Given the description of an element on the screen output the (x, y) to click on. 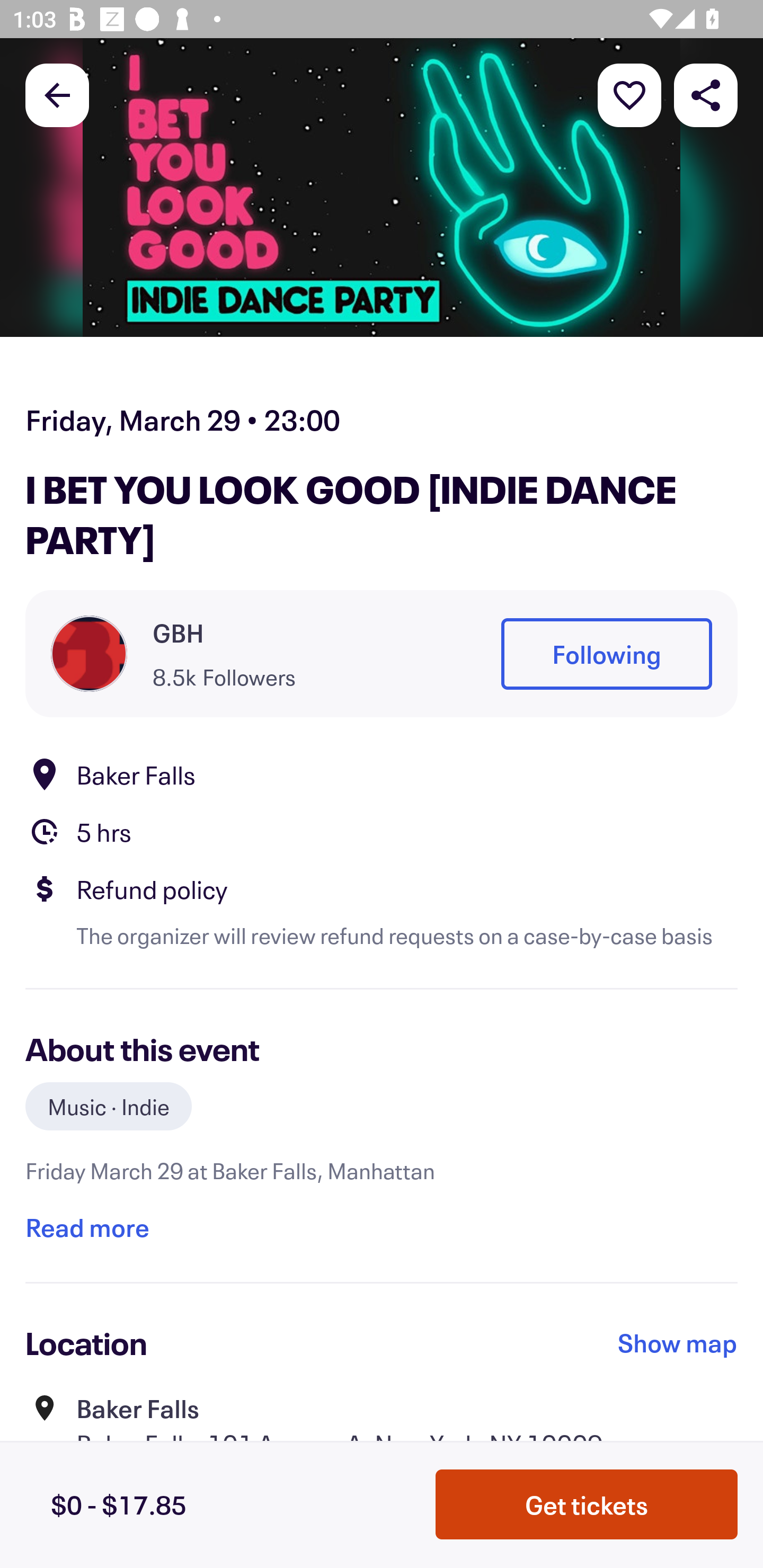
Back (57, 94)
More (629, 94)
Share (705, 94)
GBH (178, 632)
Organizer profile picture (89, 653)
Following (606, 654)
Location Baker Falls (381, 774)
Read more (87, 1226)
Show map (677, 1342)
Get tickets (586, 1504)
